Given the description of an element on the screen output the (x, y) to click on. 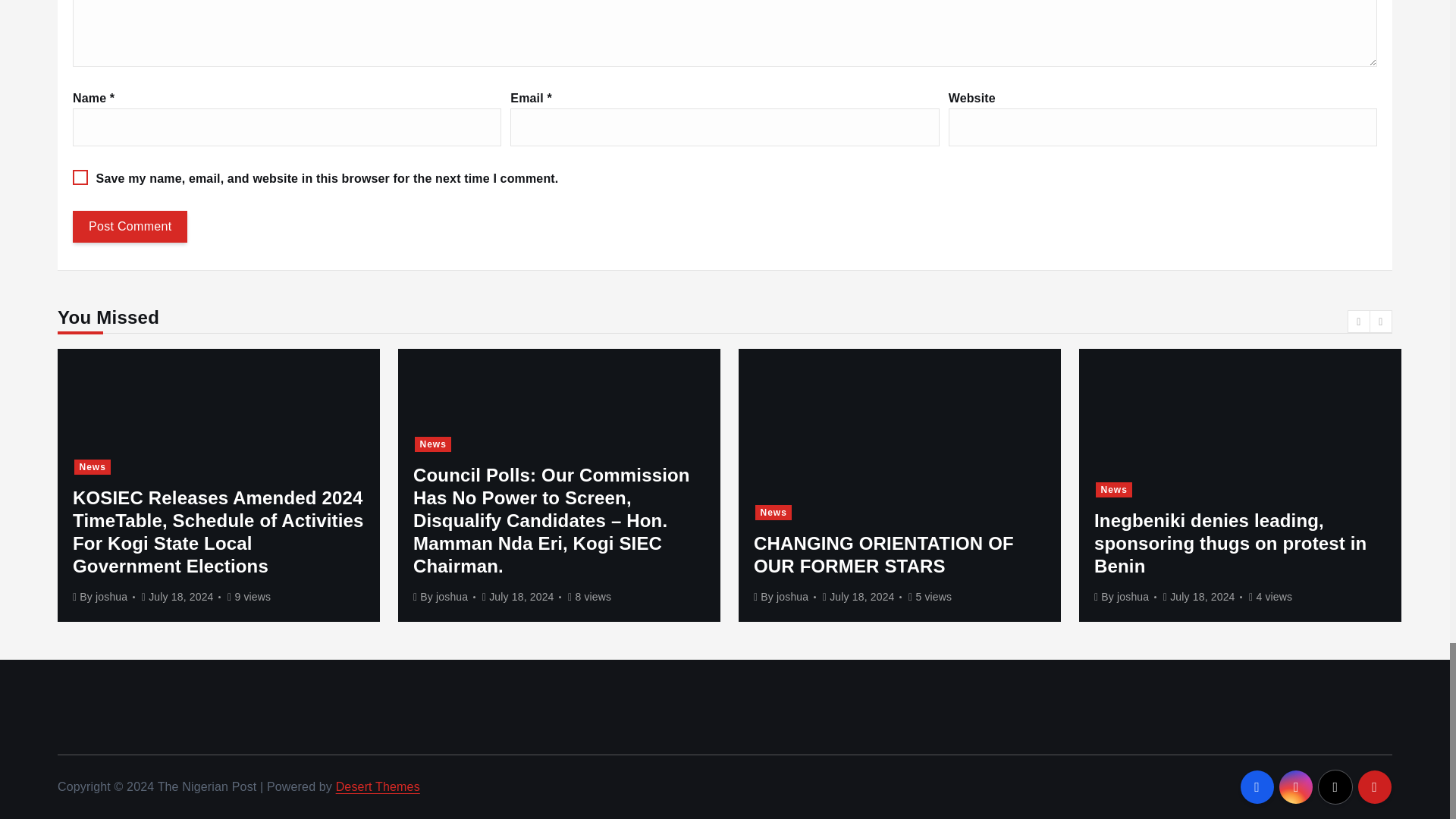
yes (79, 177)
Post Comment (129, 226)
